Given the description of an element on the screen output the (x, y) to click on. 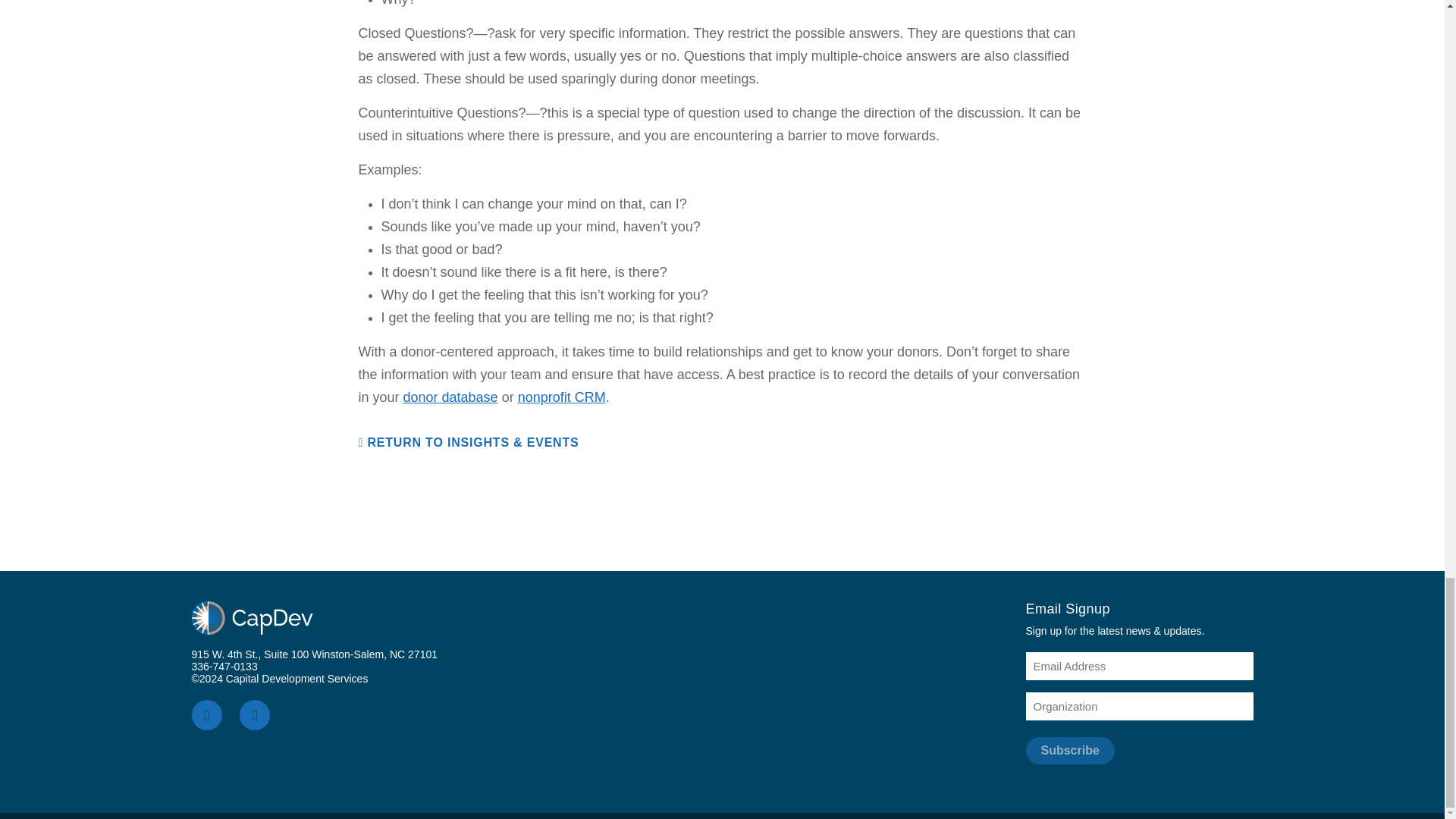
nonprofit CRM (561, 396)
donor database (450, 396)
Subscribe (1069, 750)
